Given the description of an element on the screen output the (x, y) to click on. 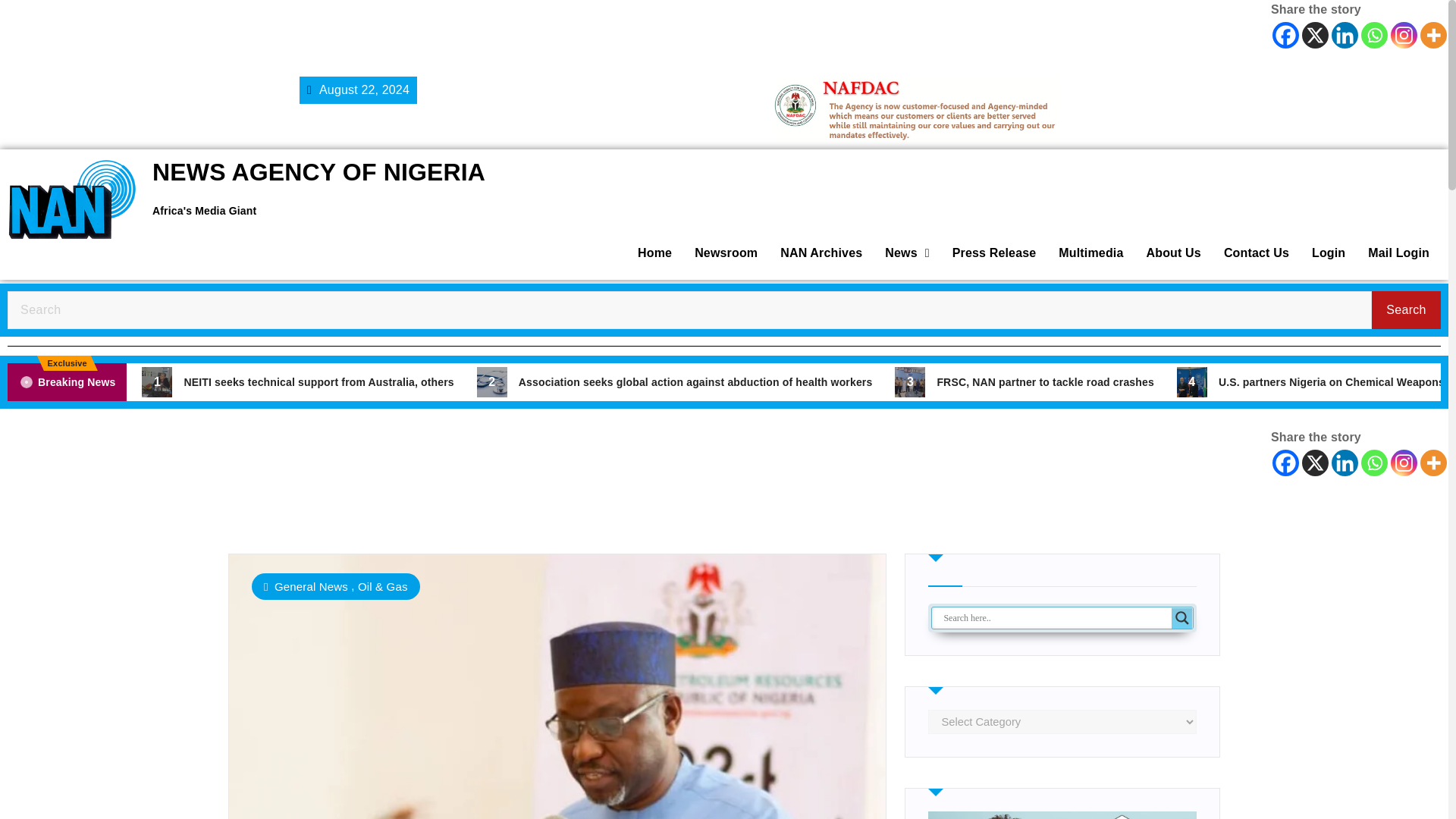
News (906, 252)
Linkedin (1345, 35)
X (1314, 462)
Mail Login (1398, 252)
Home (654, 252)
More (1434, 462)
Login (1328, 252)
X (1314, 35)
Instagram (1403, 462)
Newsroom (725, 252)
